Given the description of an element on the screen output the (x, y) to click on. 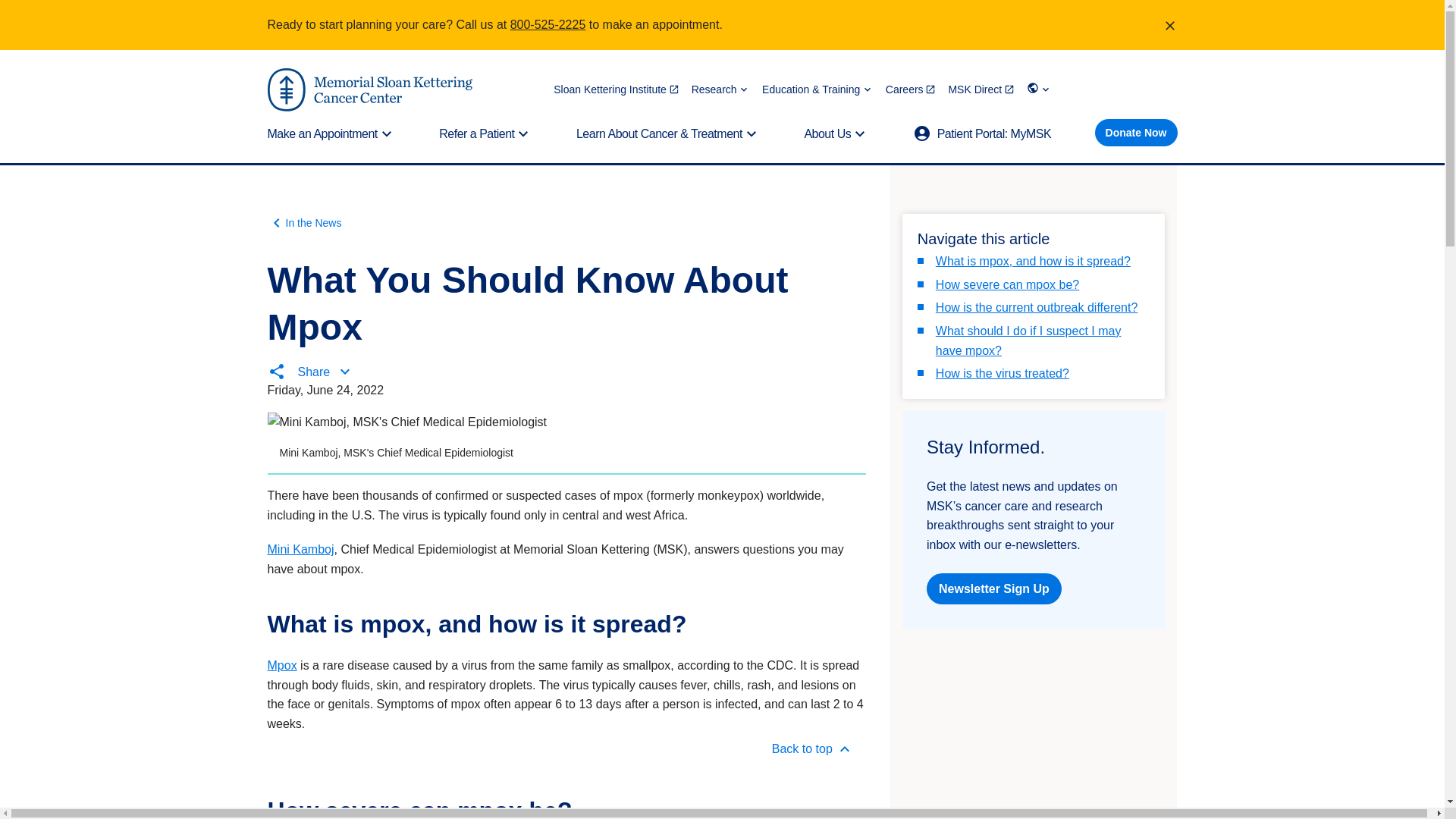
Research (720, 89)
Sloan Kettering Institute (615, 89)
MSK Direct (980, 89)
Donate Now (1135, 132)
Careers (910, 89)
Newsletter Sign Up (993, 588)
800-525-2225 (548, 24)
